Given the description of an element on the screen output the (x, y) to click on. 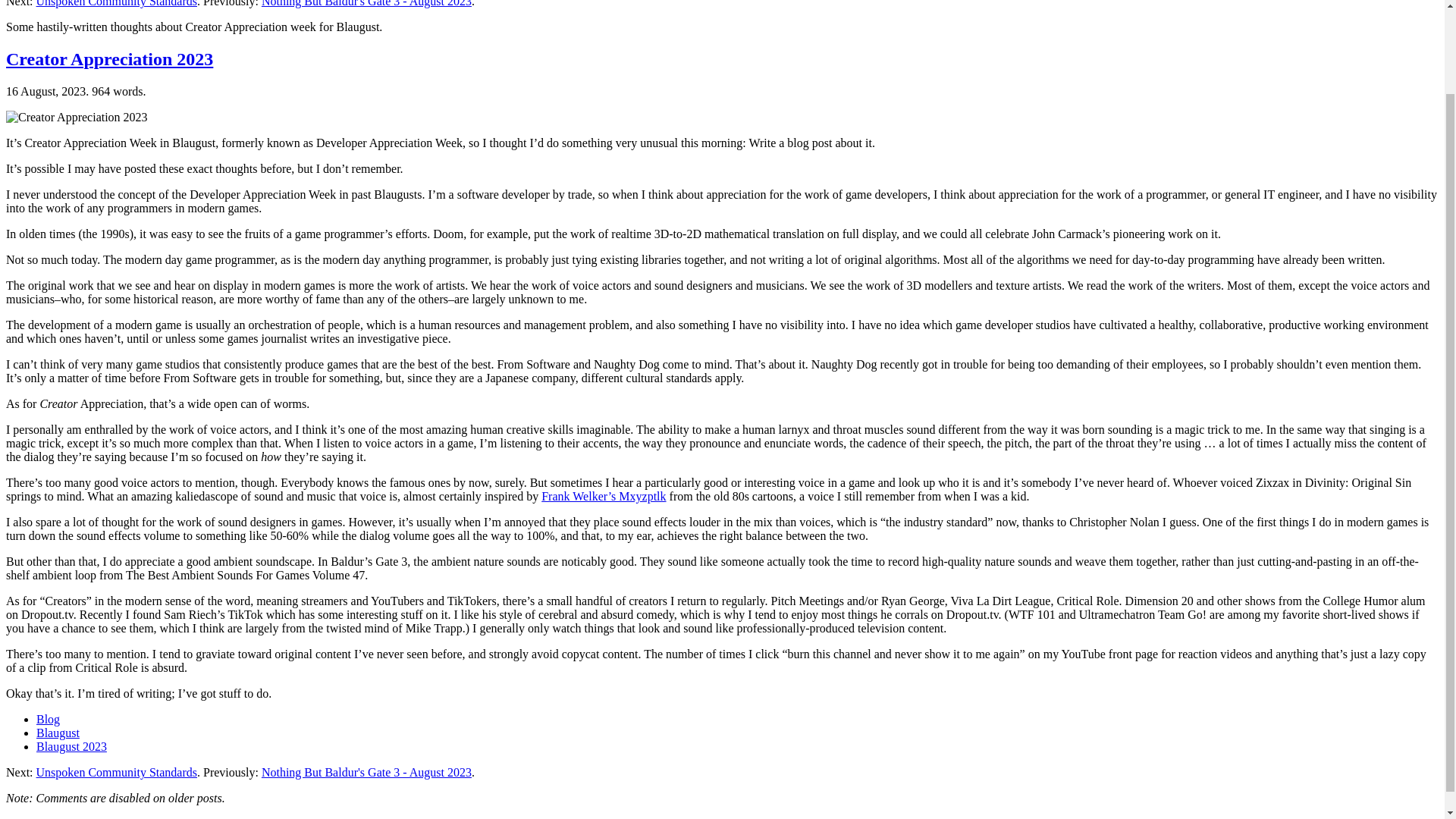
Blaugust 2023 (71, 746)
Blaugust (58, 732)
Nothing But Baldur's Gate 3 - August 2023 (366, 771)
Blog (47, 718)
Nothing But Baldur's Gate 3 - August 2023 (366, 3)
Unspoken Community Standards (116, 3)
Unspoken Community Standards (116, 771)
Creator Appreciation 2023 (108, 58)
